Given the description of an element on the screen output the (x, y) to click on. 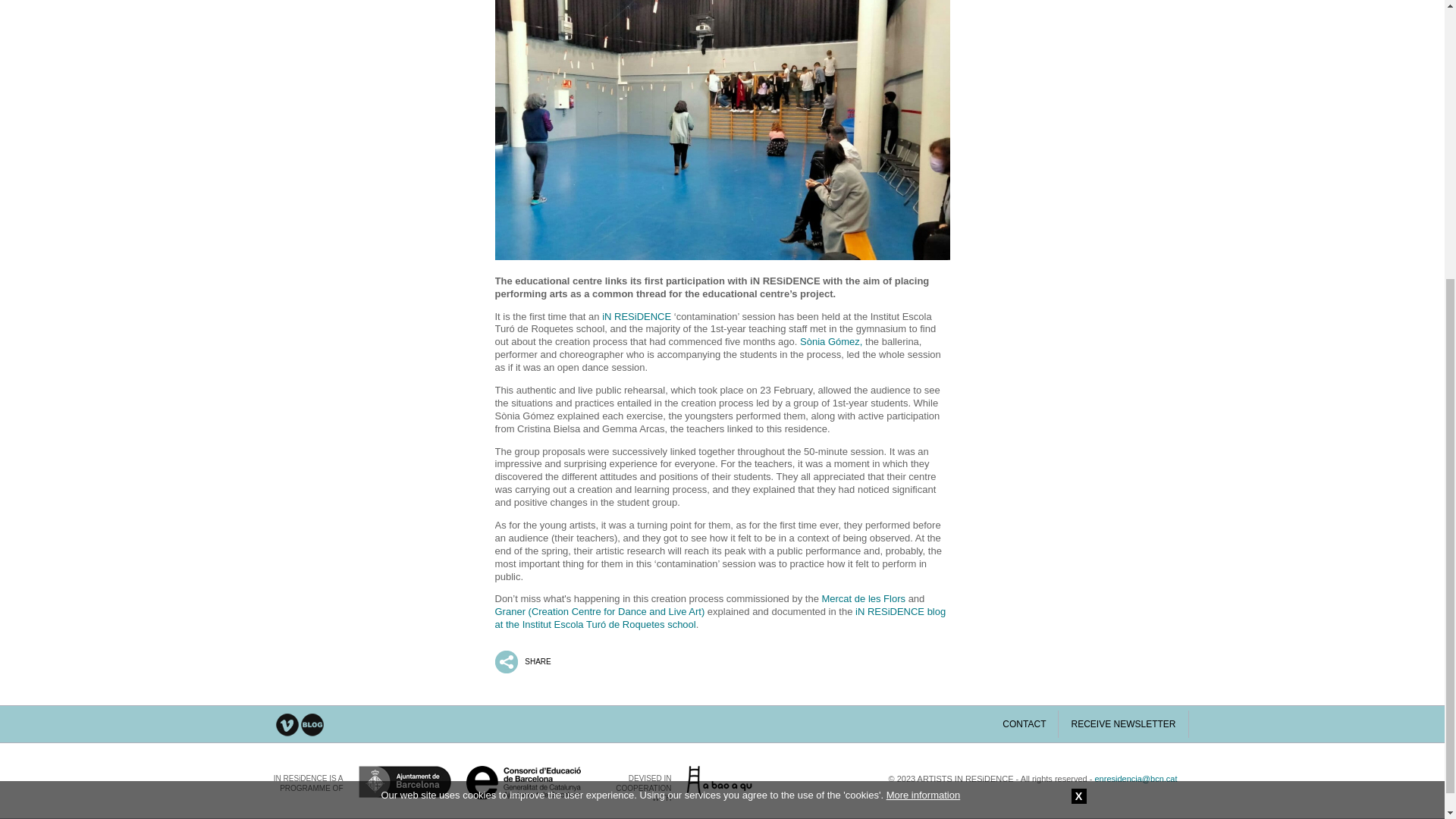
iN RESiDENCE (636, 317)
X (1078, 370)
More information (923, 369)
Close (1078, 370)
